Given the description of an element on the screen output the (x, y) to click on. 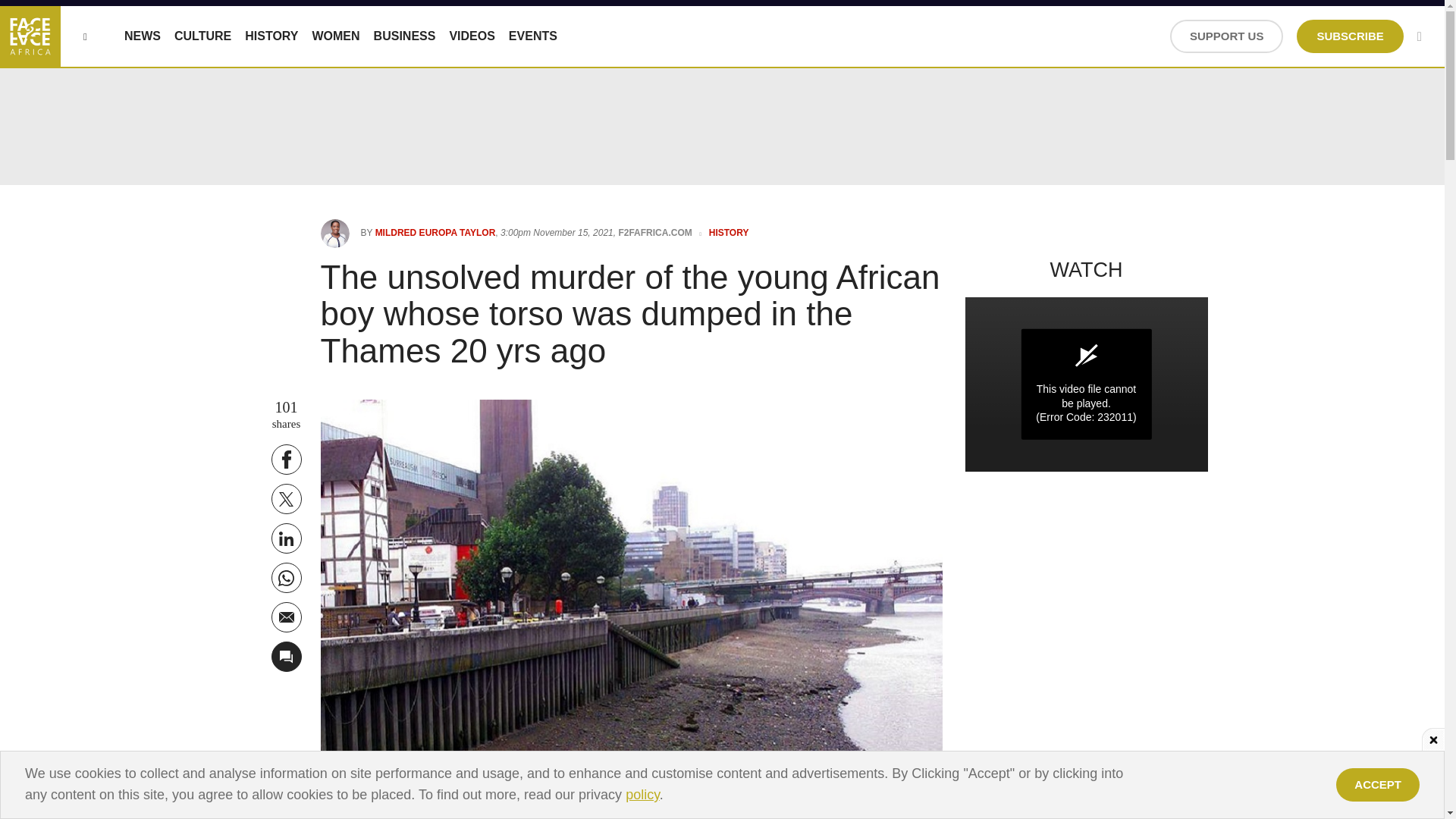
SUBSCRIBE (1350, 36)
CULTURE (202, 35)
3rd party ad content (722, 785)
SUPPORT US (1227, 36)
HISTORY (271, 35)
3rd party ad content (721, 785)
WOMEN (335, 35)
EVENTS (532, 35)
BUSINESS (404, 35)
NEWS (141, 35)
VIDEOS (471, 35)
